Given the description of an element on the screen output the (x, y) to click on. 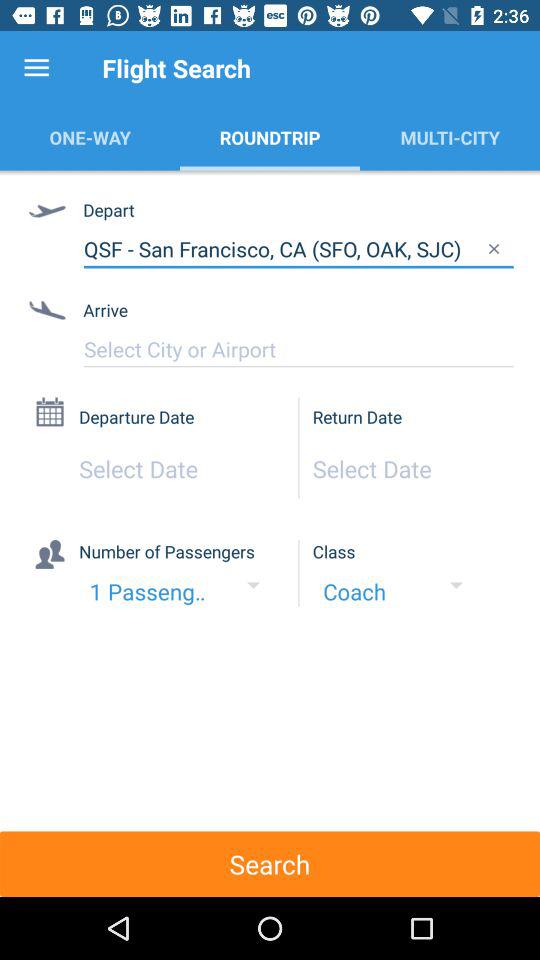
tap the item above the one-way icon (36, 68)
